Given the description of an element on the screen output the (x, y) to click on. 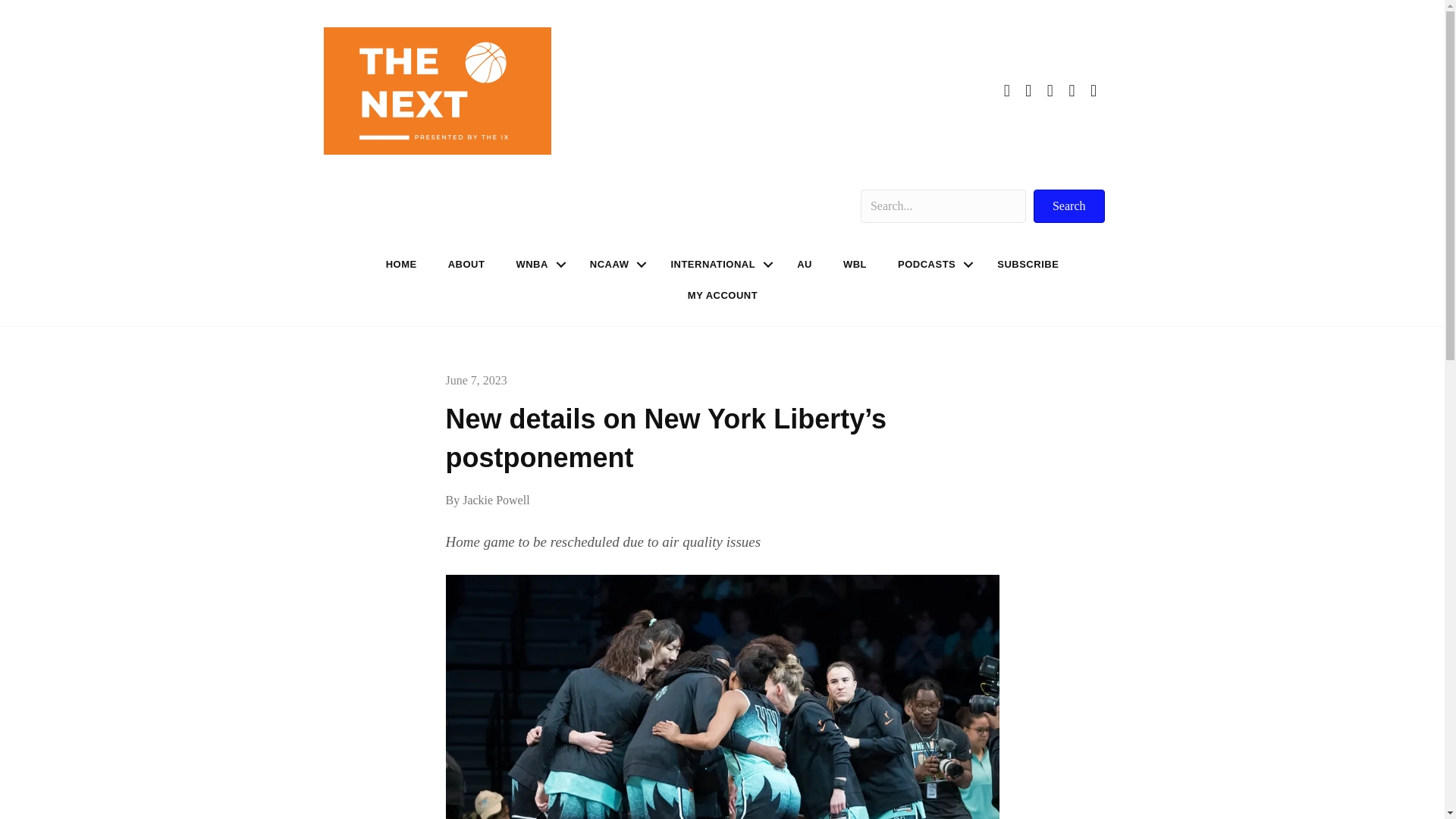
Screen Shot 2023-11-14 at 9.55.24 PM (436, 90)
